Given the description of an element on the screen output the (x, y) to click on. 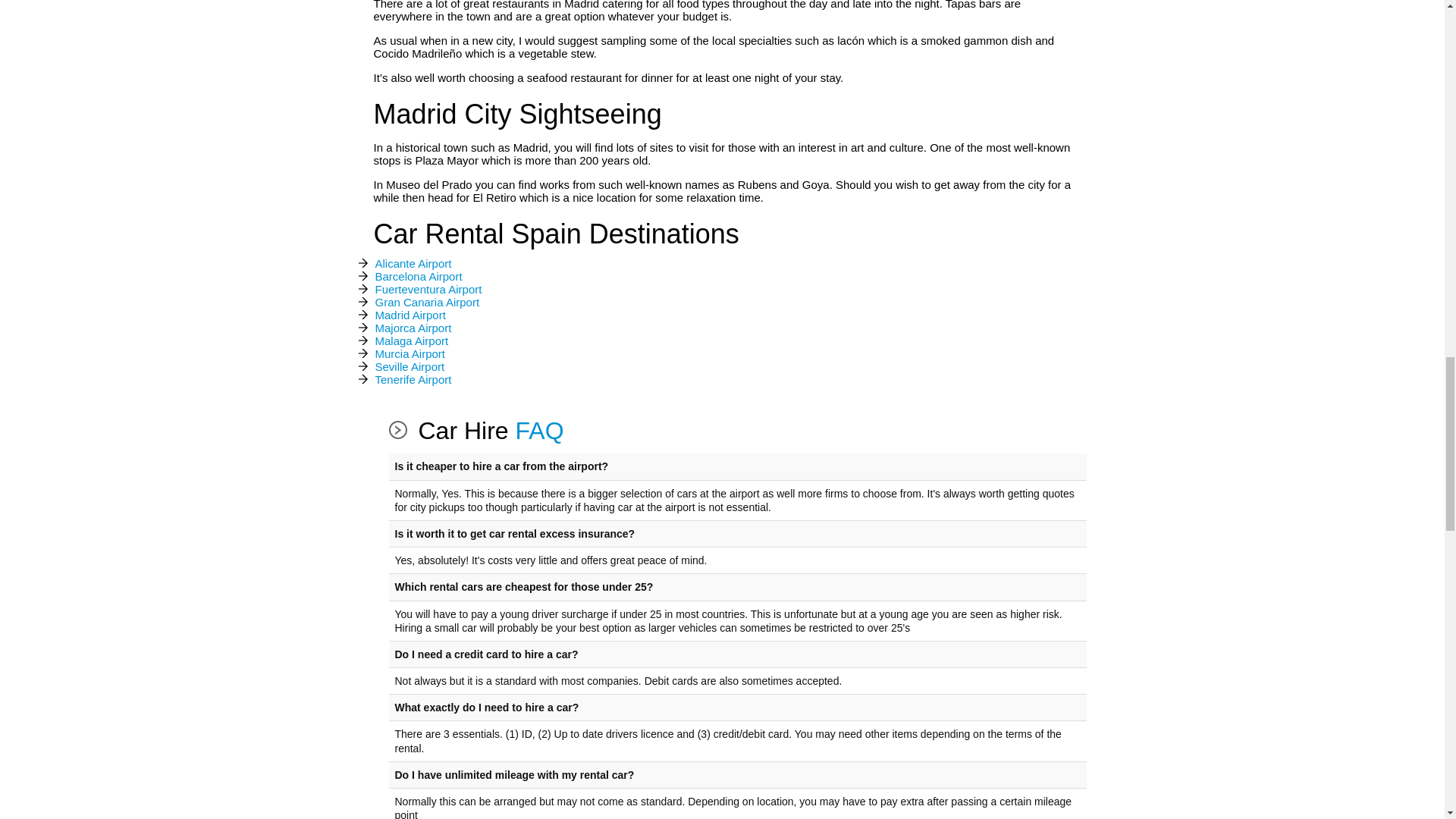
Tenerife Airport (412, 380)
Barcelona Airport (417, 277)
Malaga Airport (411, 341)
Gran Canaria Airport (426, 302)
Murcia Airport (409, 354)
Seville Airport (409, 367)
Madrid Airport (409, 315)
Majorca Airport (412, 328)
Alicante Airport (412, 264)
Fuerteventura Airport (427, 289)
